Given the description of an element on the screen output the (x, y) to click on. 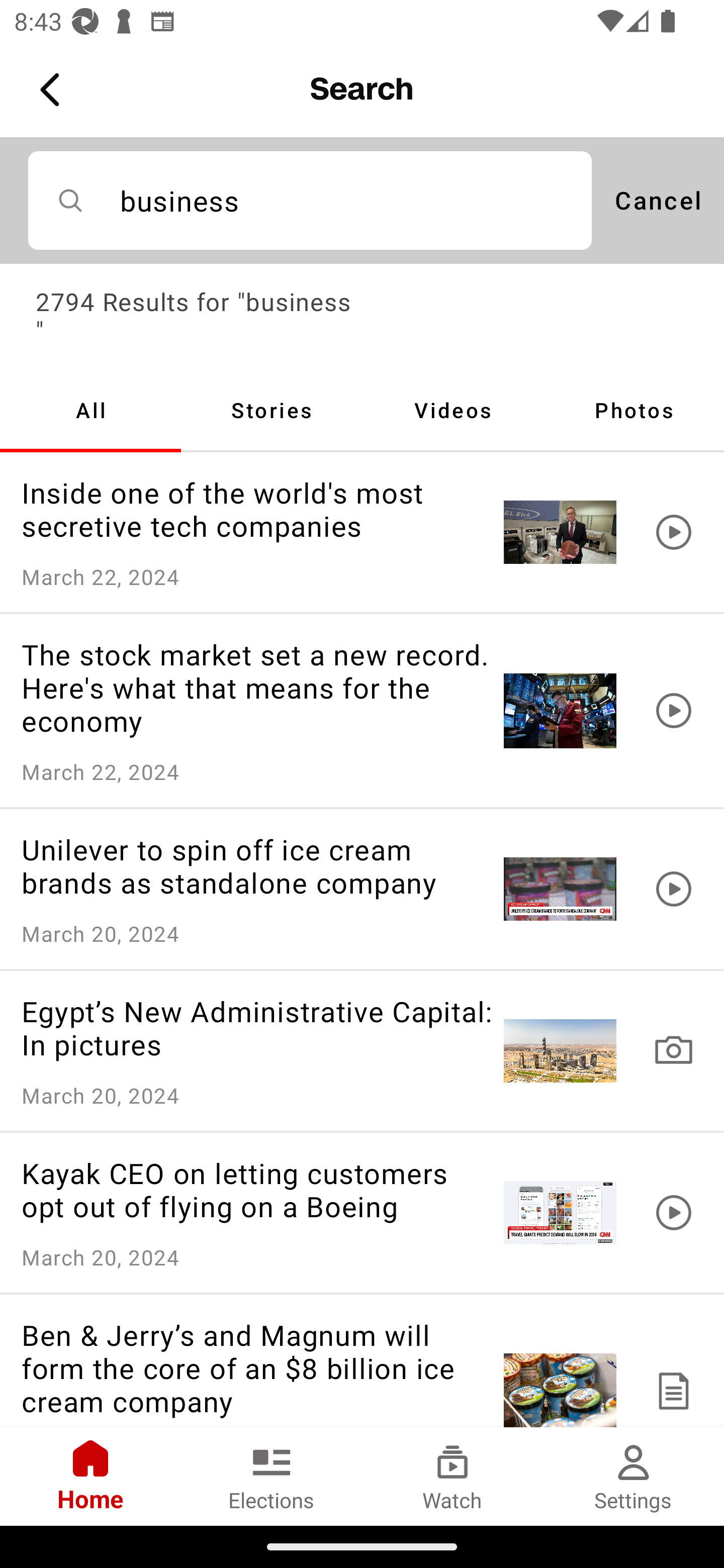
Back Button (52, 89)
Cancel (657, 199)
business
 (309, 199)
Stories (271, 409)
Videos (452, 409)
Photos (633, 409)
Elections (271, 1475)
Watch (452, 1475)
Settings (633, 1475)
